Given the description of an element on the screen output the (x, y) to click on. 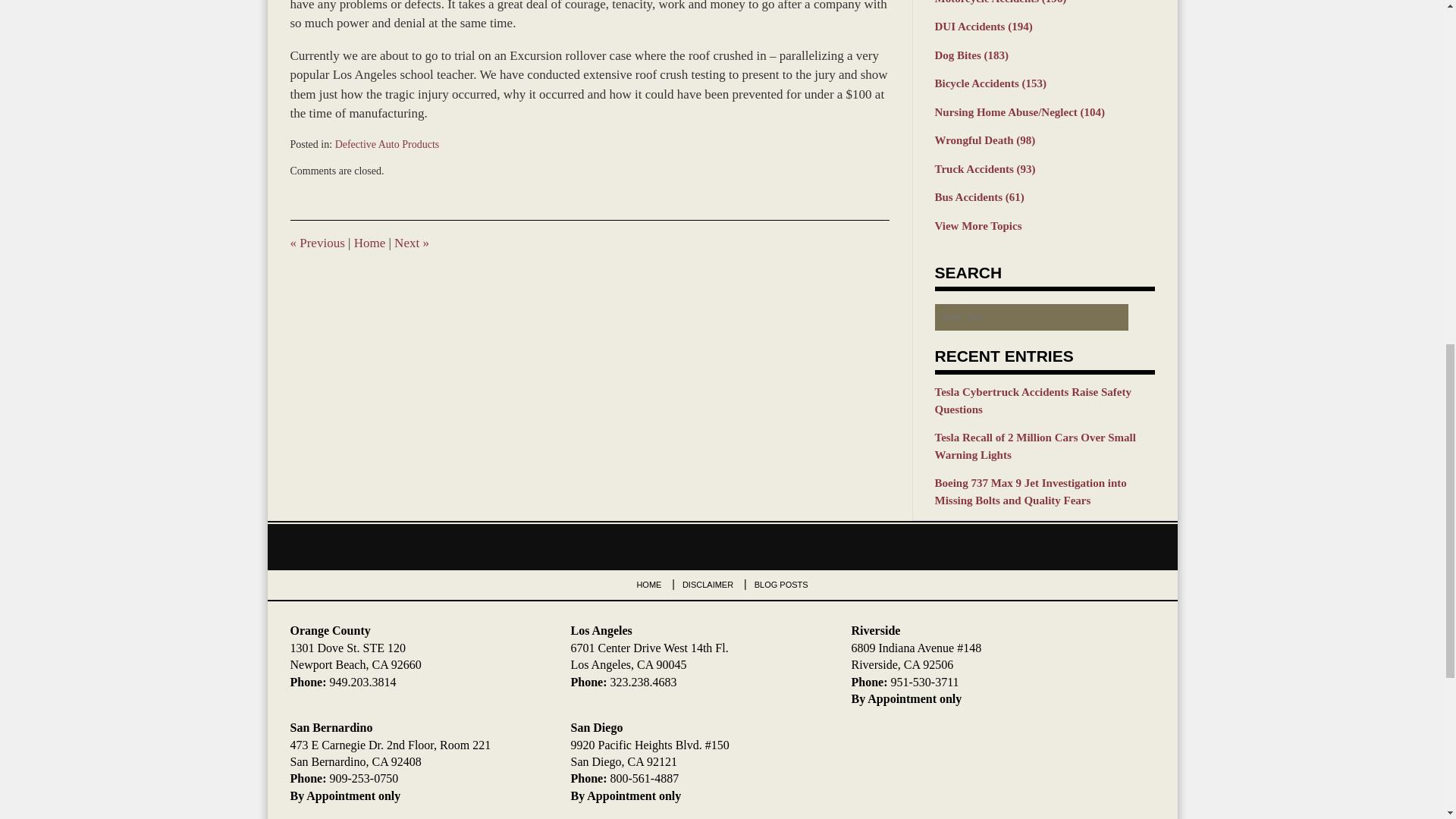
Defective Auto Products (386, 143)
DISCLAIMER (708, 584)
Tesla Recall of 2 Million Cars Over Small Warning Lights (1044, 446)
SEARCH (1141, 316)
View all posts in Defective Auto Products (386, 143)
View More Topics (1044, 226)
Home (369, 242)
BLOG POSTS (780, 584)
Tesla Cybertruck Accidents Raise Safety Questions (1044, 400)
HOME (648, 584)
